Given the description of an element on the screen output the (x, y) to click on. 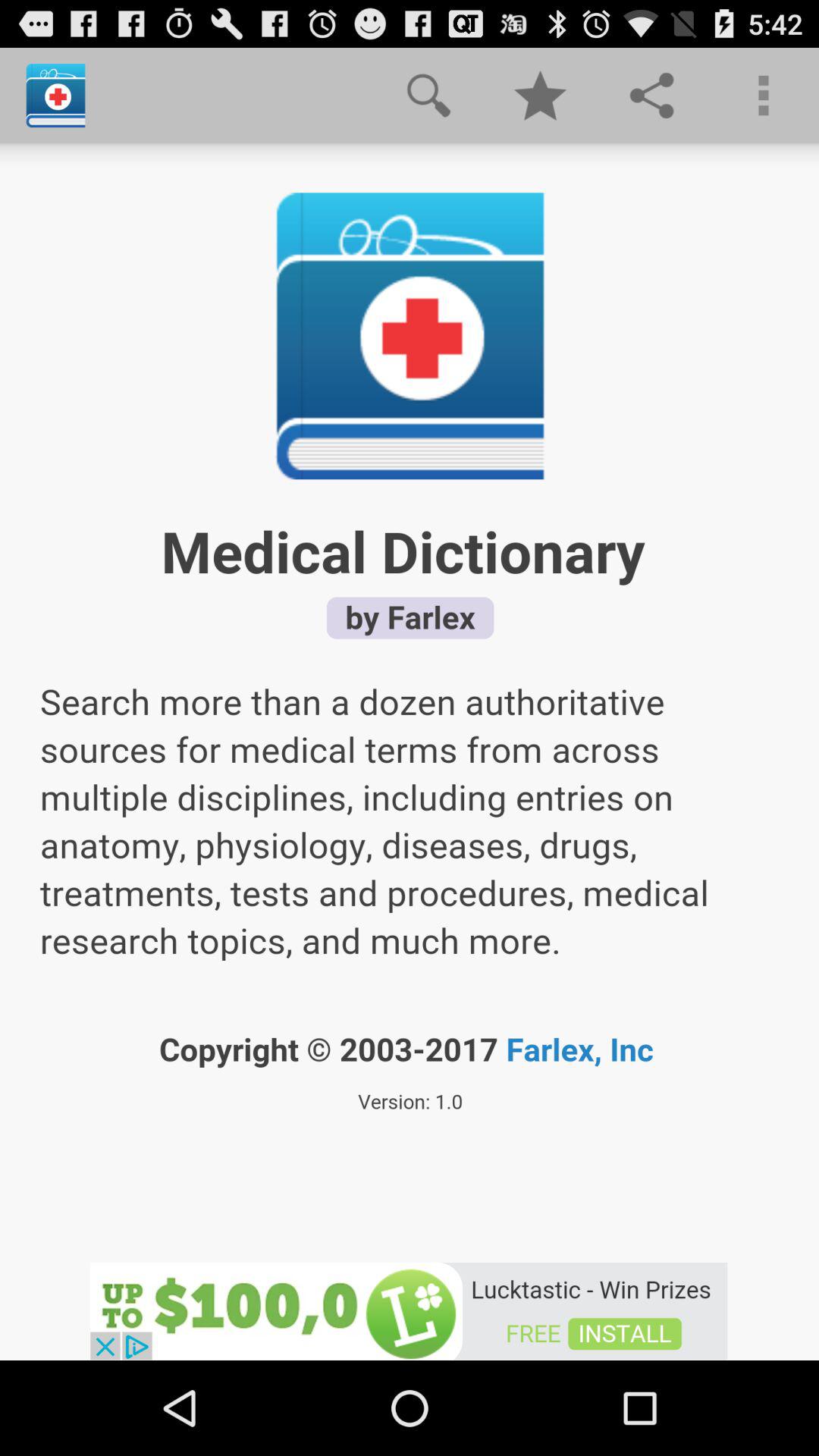
advertisement (408, 1309)
